Given the description of an element on the screen output the (x, y) to click on. 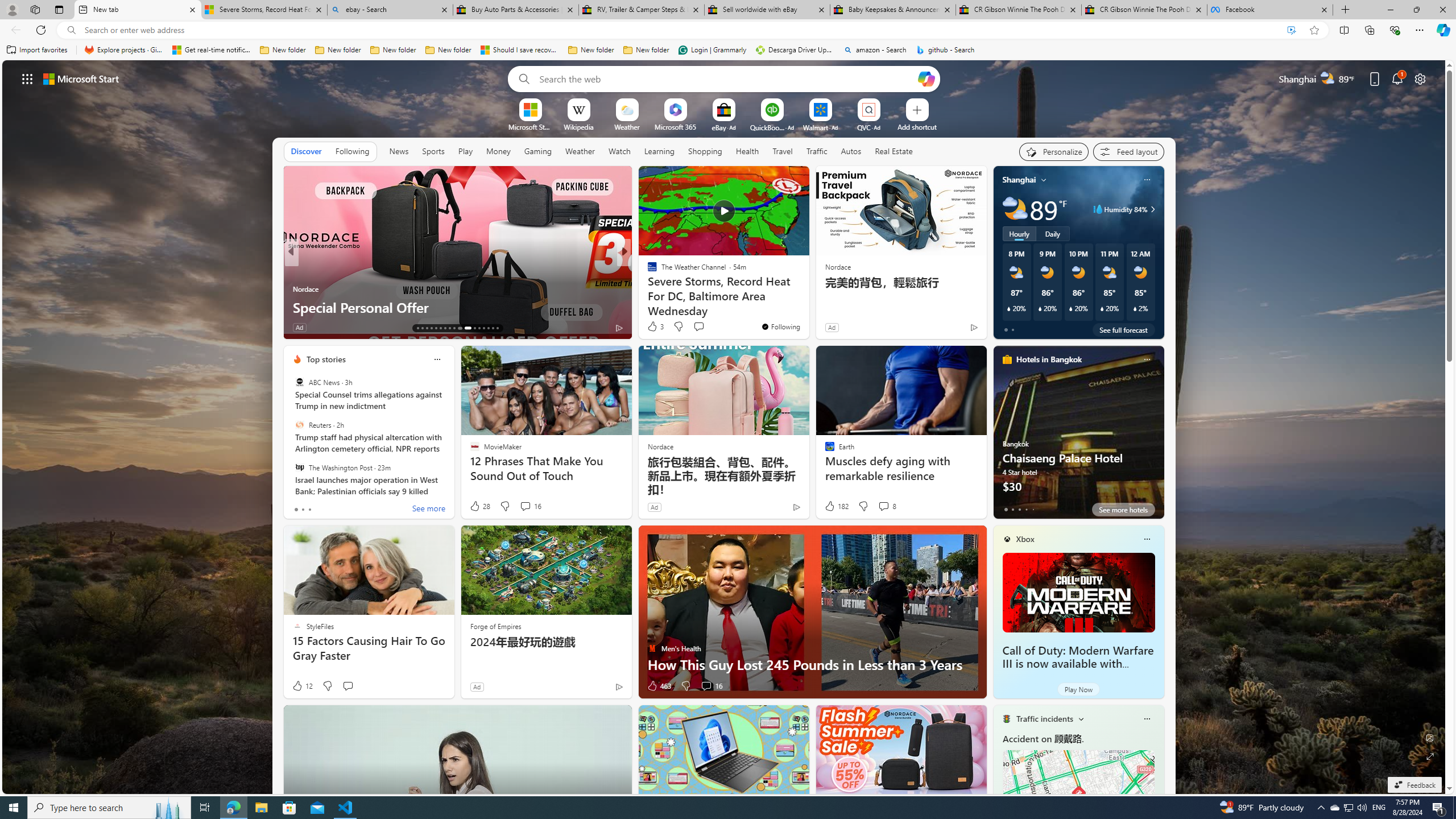
Following (352, 151)
116 Like (654, 327)
AutomationID: tab-28 (492, 328)
Real Estate (893, 151)
Collections (1369, 29)
Page settings (1420, 78)
Lonely dolphin may be behind series of attacks on swimmers (807, 298)
32 Like (652, 327)
Feed settings (1128, 151)
Discover (306, 151)
View comments 1 Comment (705, 327)
